Given the description of an element on the screen output the (x, y) to click on. 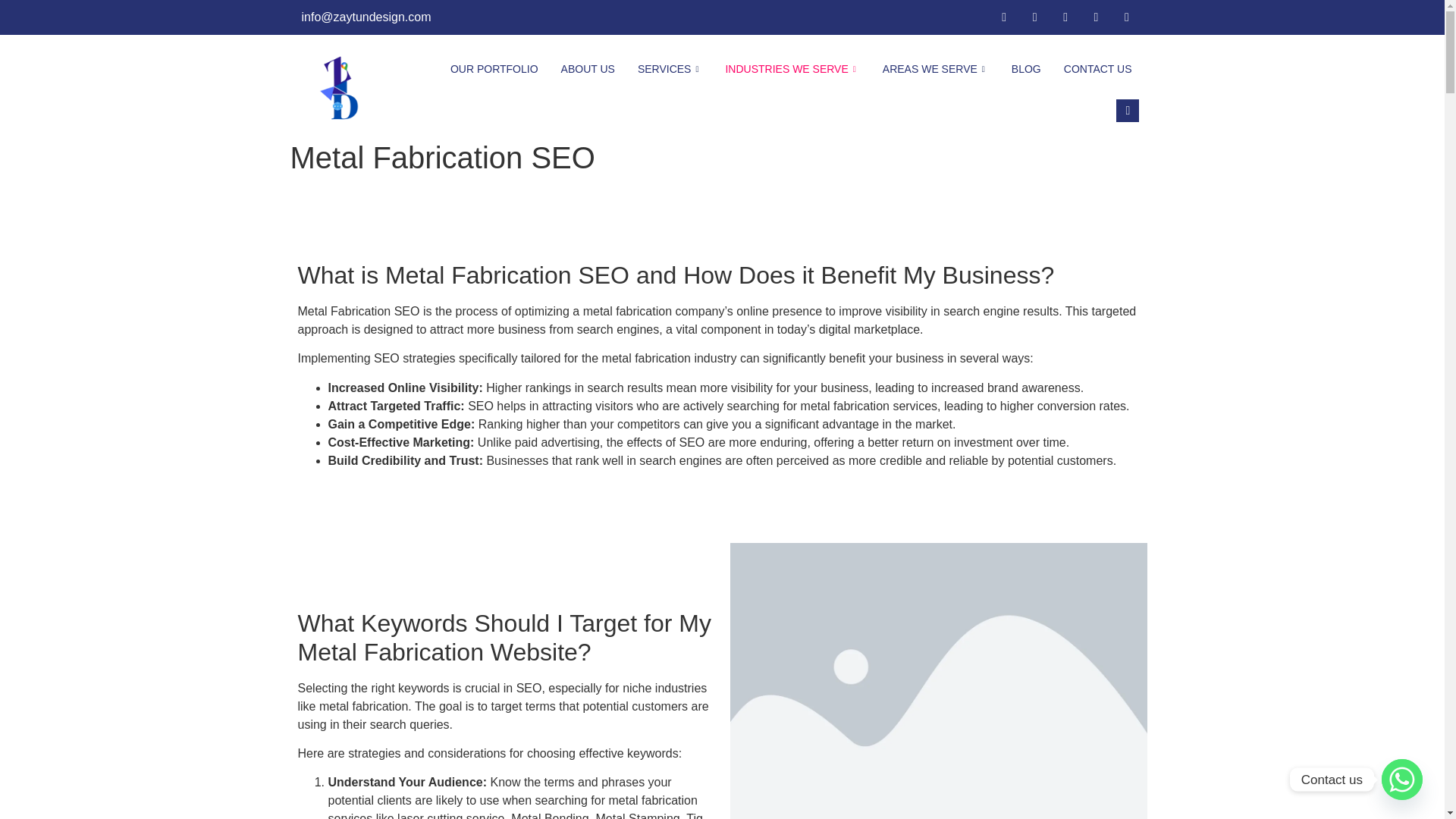
SERVICES (670, 68)
OUR PORTFOLIO (494, 68)
CONTACT US (1097, 68)
AREAS WE SERVE (935, 68)
BLOG (1026, 68)
INDUSTRIES WE SERVE (791, 68)
ABOUT US (588, 68)
